Given the description of an element on the screen output the (x, y) to click on. 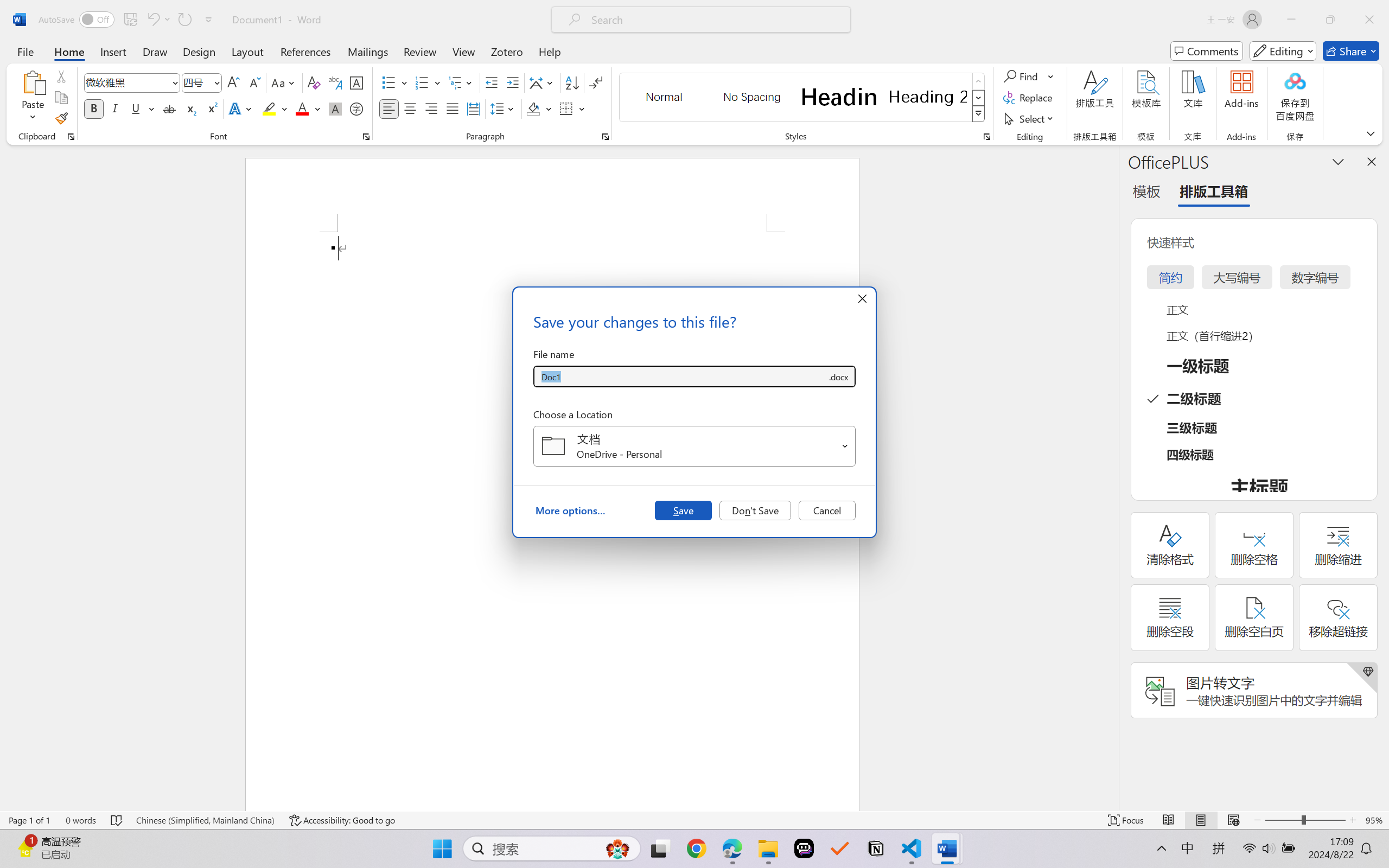
Undo <ApplyStyleToDoc>b__0 (152, 19)
